Given the description of an element on the screen output the (x, y) to click on. 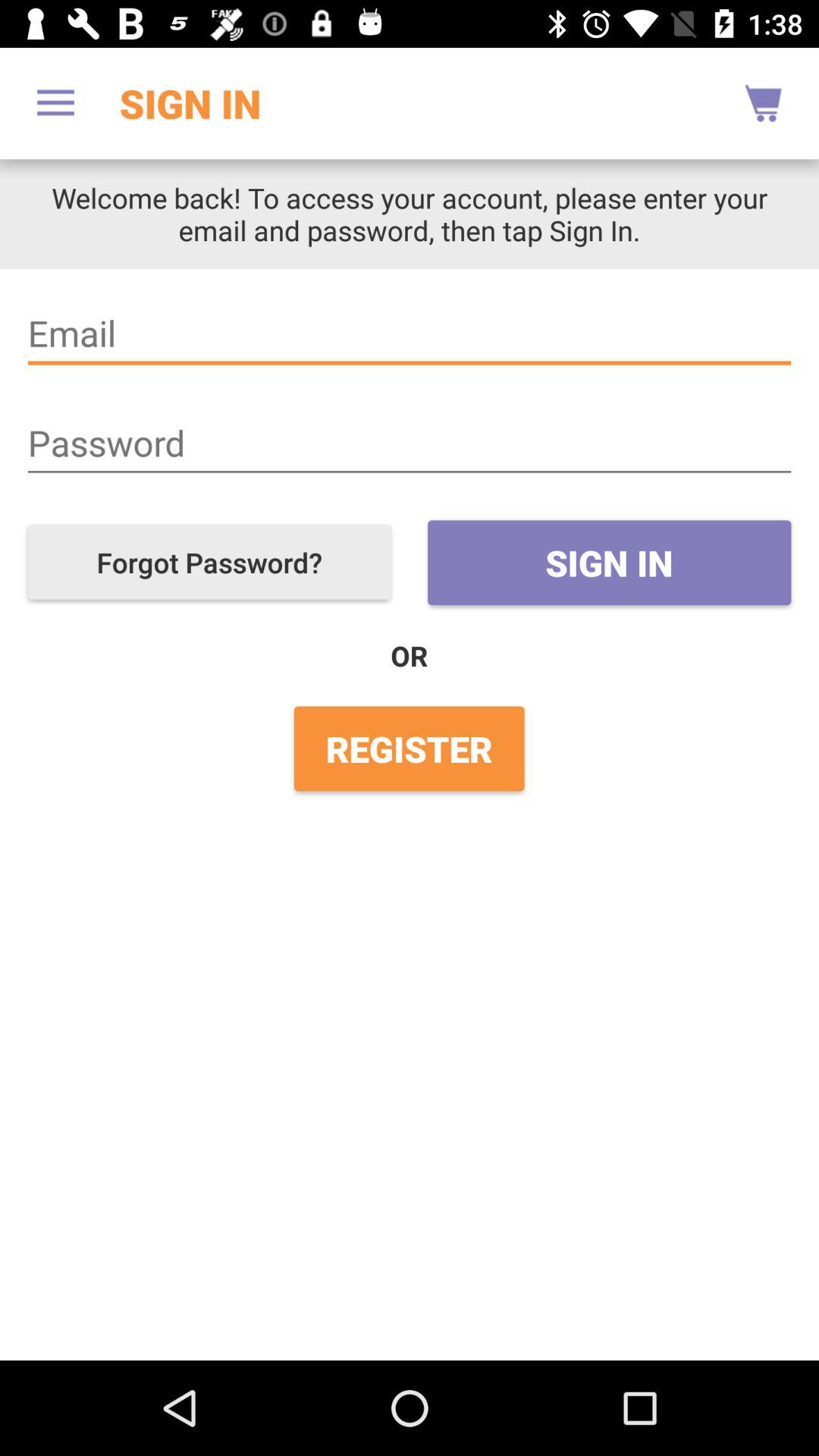
select the icon to the right of the sign in item (763, 103)
